Given the description of an element on the screen output the (x, y) to click on. 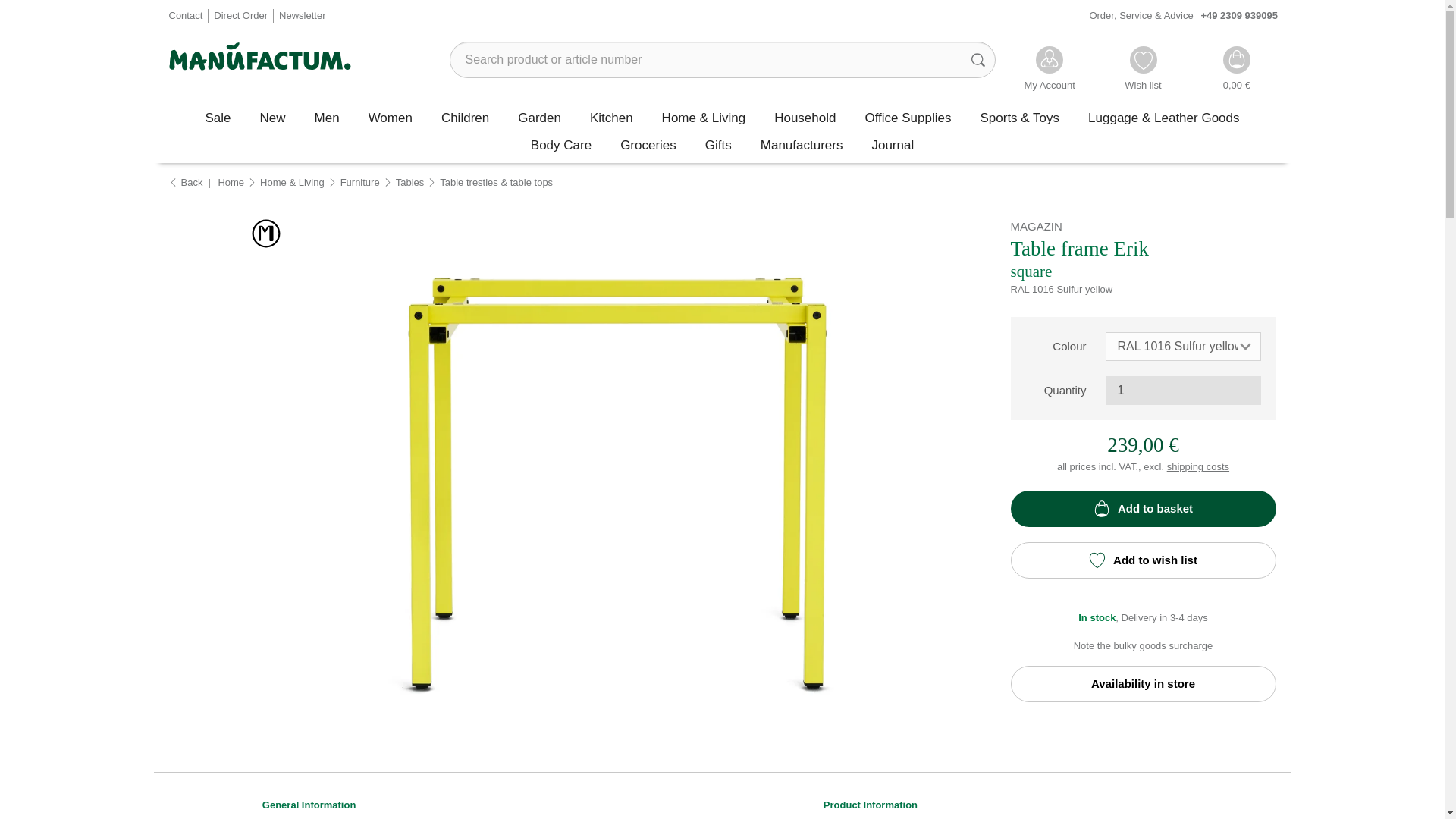
Wish list (1142, 69)
Household (805, 117)
Direct Order (240, 16)
1 (1182, 389)
New (272, 117)
Garden (539, 117)
My Account (1049, 69)
Women (389, 117)
Children (464, 117)
Contact (185, 16)
